Given the description of an element on the screen output the (x, y) to click on. 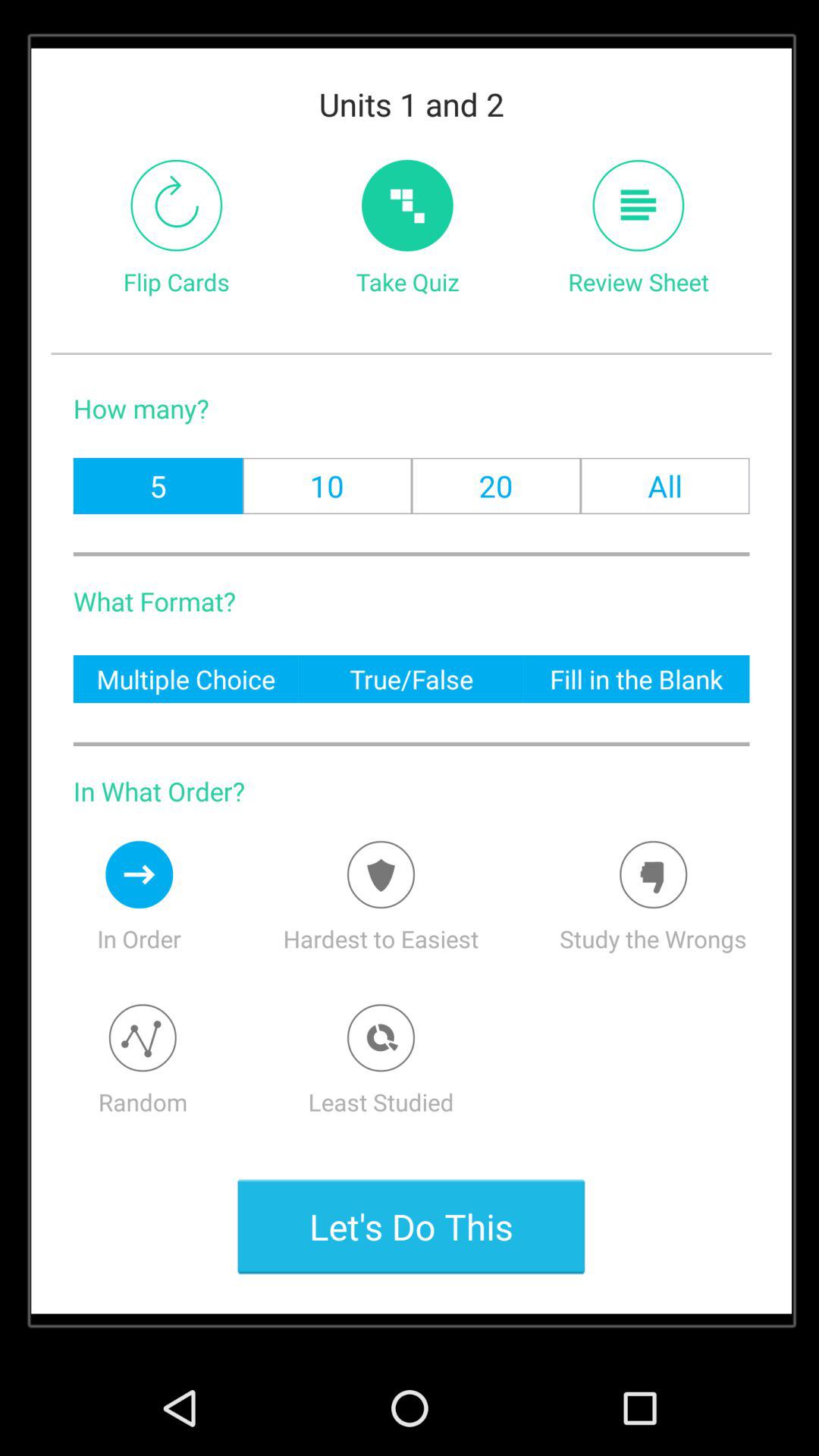
add something (380, 874)
